Given the description of an element on the screen output the (x, y) to click on. 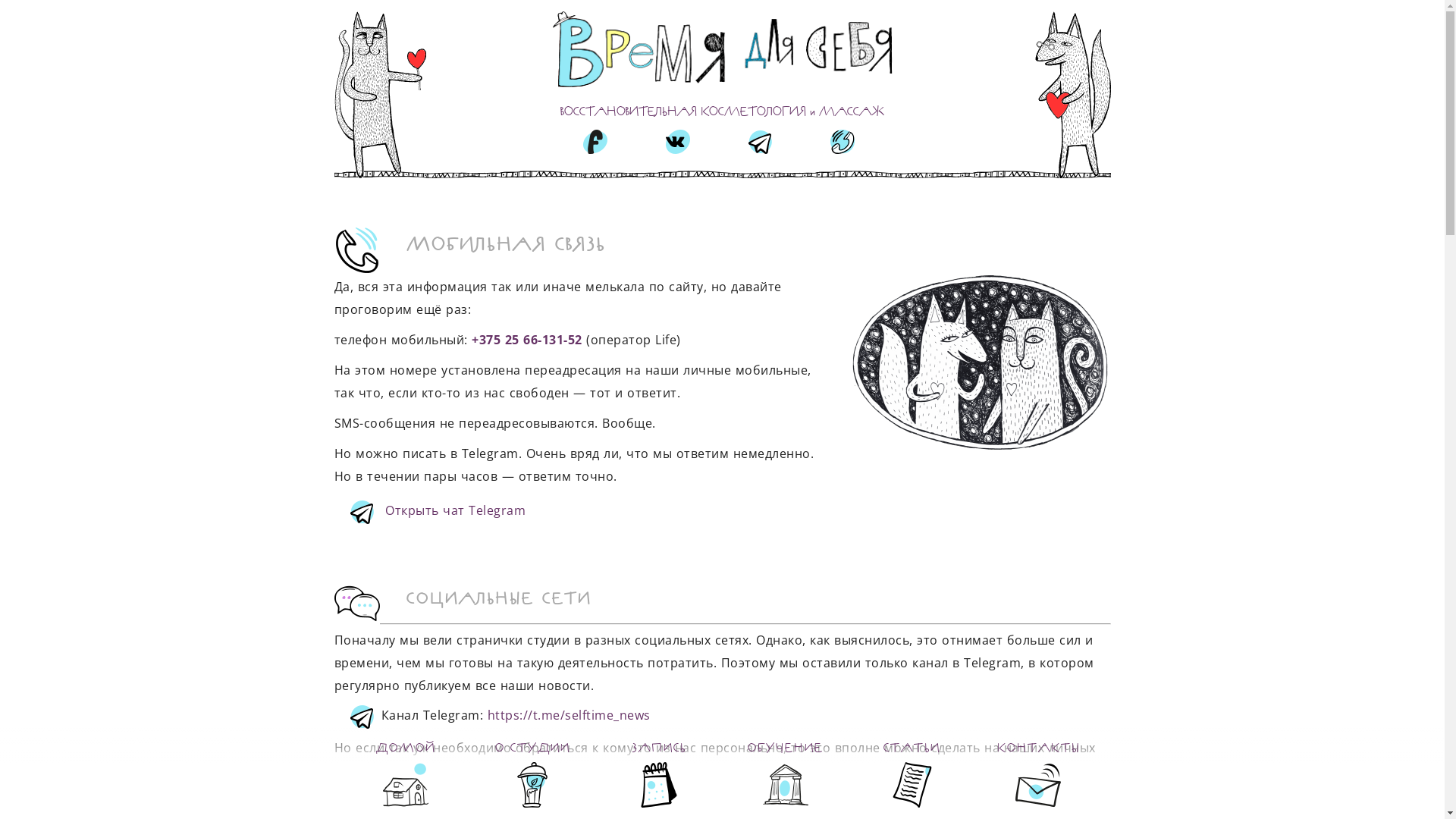
+375 25 66-131-52 Element type: text (526, 339)
https://t.me/selftime_news Element type: text (567, 714)
